Given the description of an element on the screen output the (x, y) to click on. 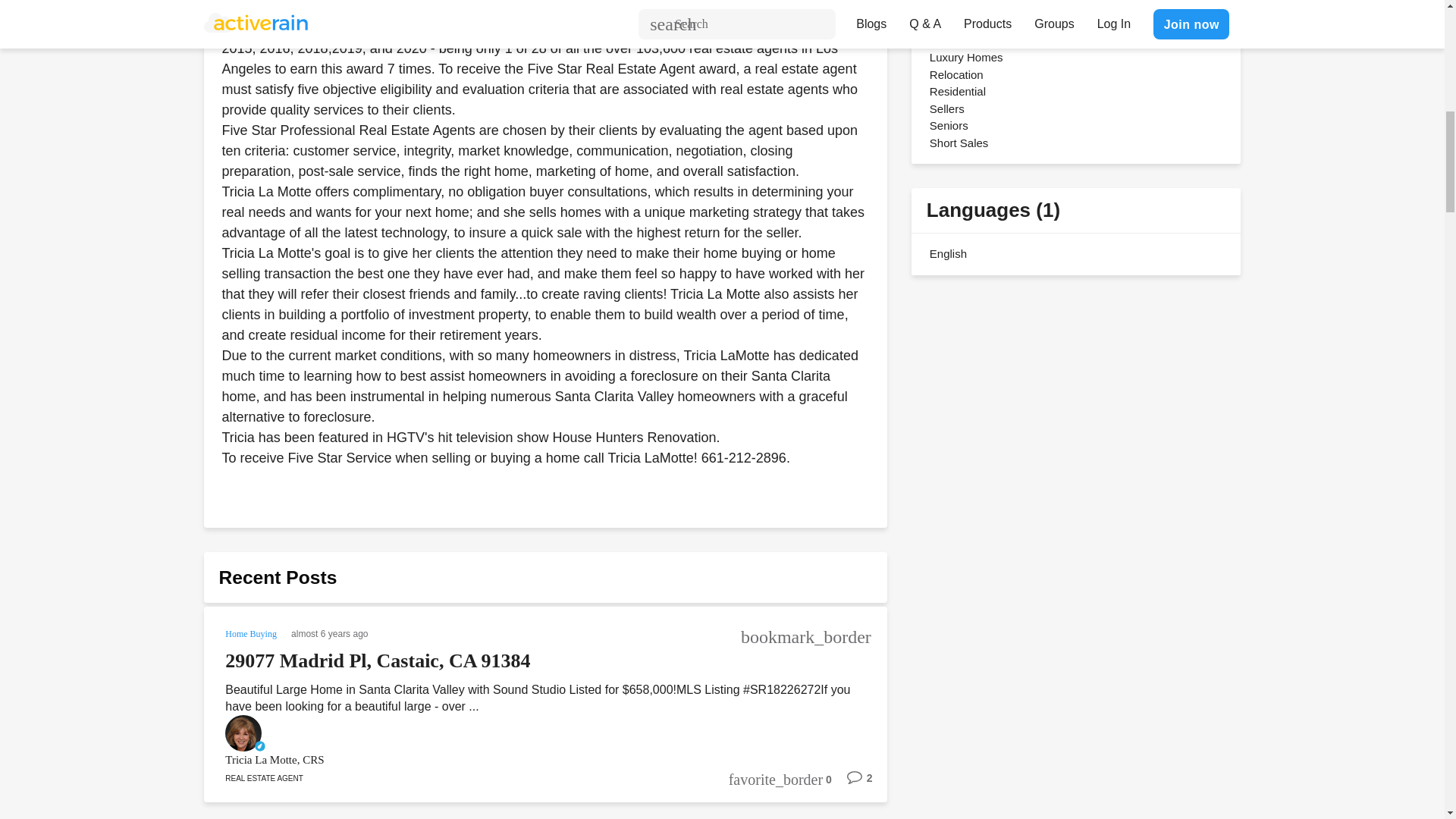
2 (851, 783)
Recent Posts (277, 577)
Tricia La Motte, CRS (525, 760)
Home Buying (252, 632)
29077 Madrid Pl, Castaic, CA 91384 (377, 660)
